Given the description of an element on the screen output the (x, y) to click on. 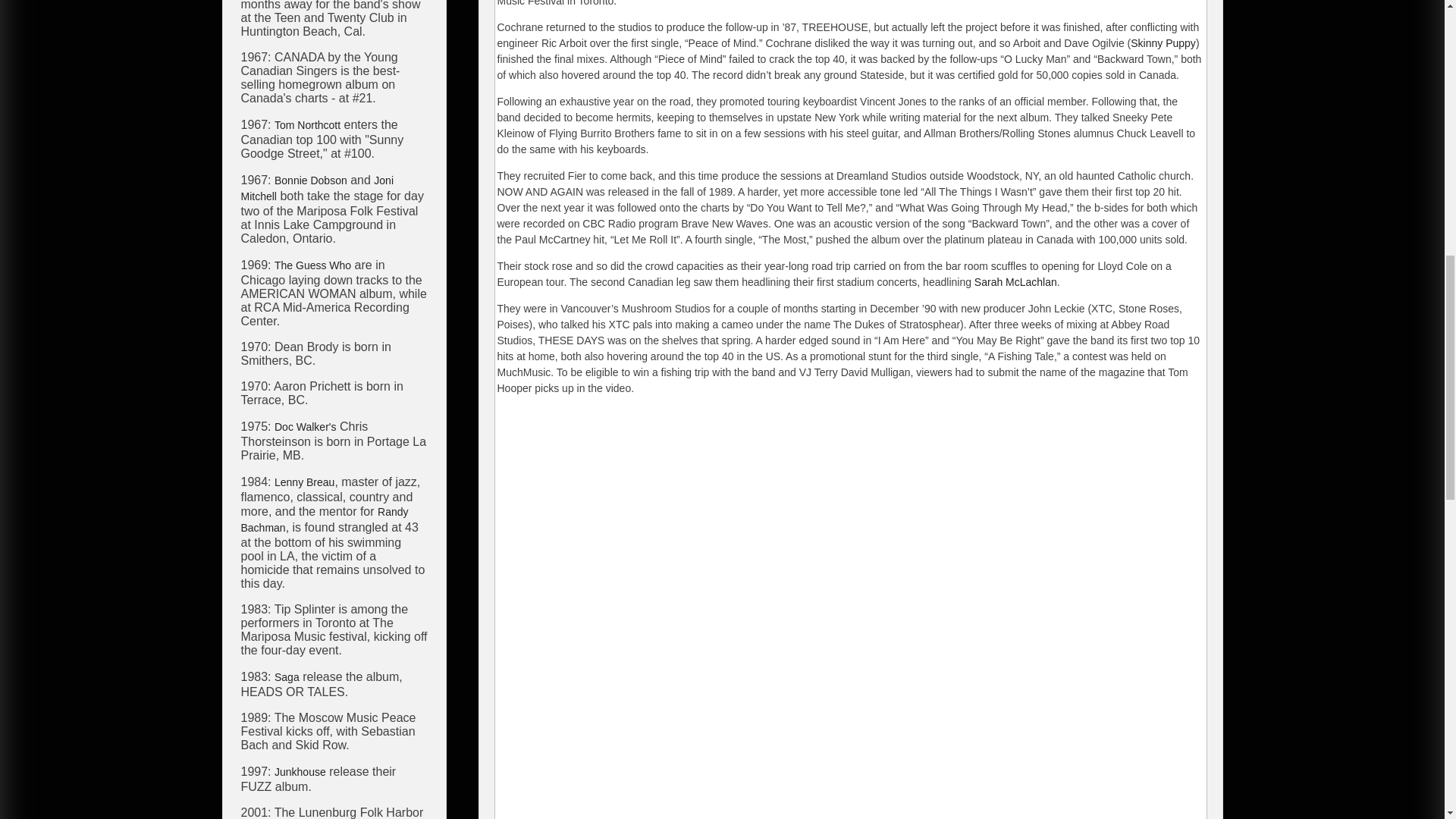
Tom Northcott (307, 124)
Joni Mitchell (317, 188)
Doc Walker's (305, 426)
Lenny Breau (304, 481)
Bonnie Dobson (311, 180)
Sarah McLachlan (1015, 282)
Skinny Puppy (1163, 42)
The Guess Who (312, 265)
